Given the description of an element on the screen output the (x, y) to click on. 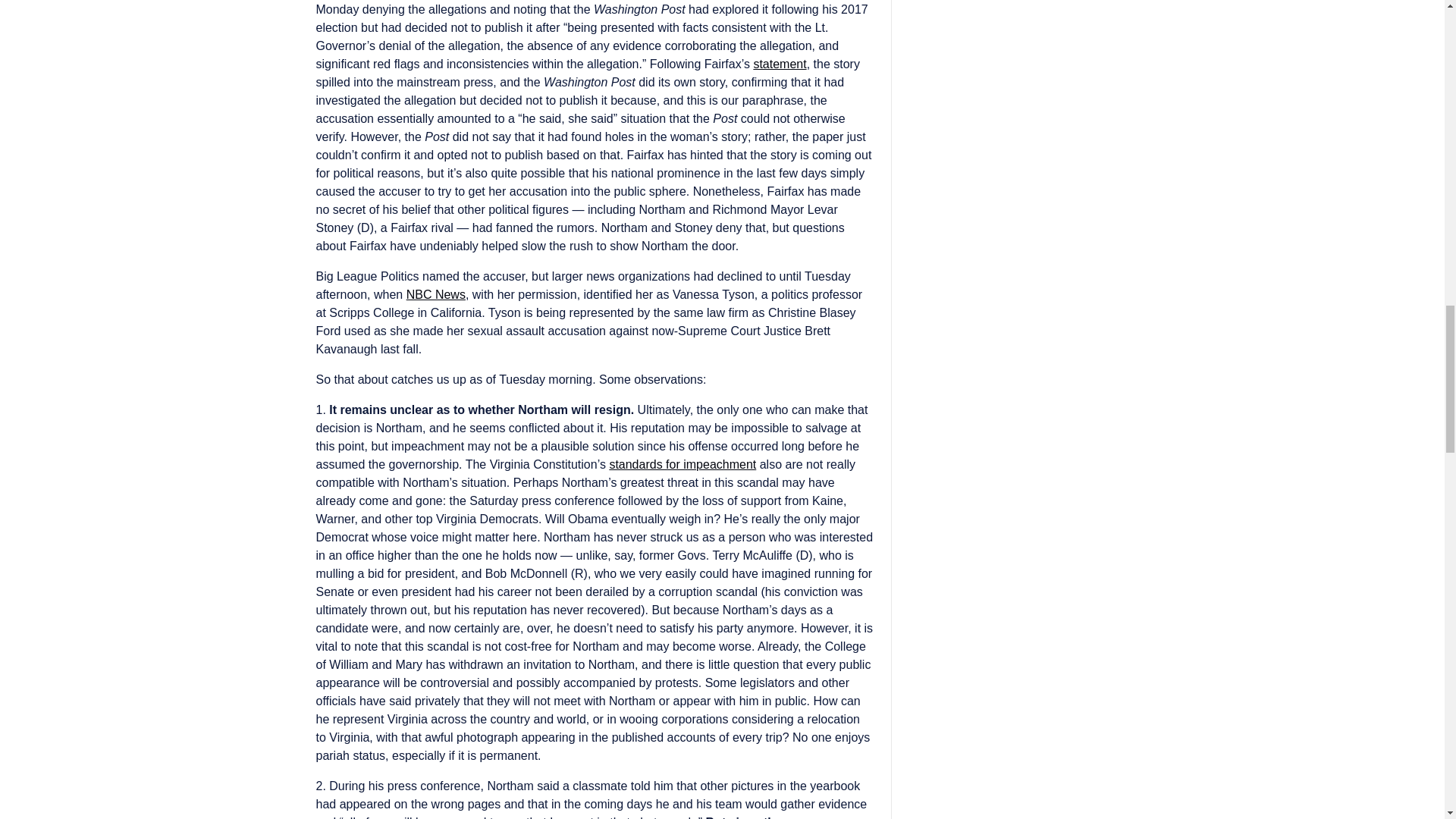
standards for impeachment (681, 463)
NBC News (435, 294)
statement (779, 63)
